Given the description of an element on the screen output the (x, y) to click on. 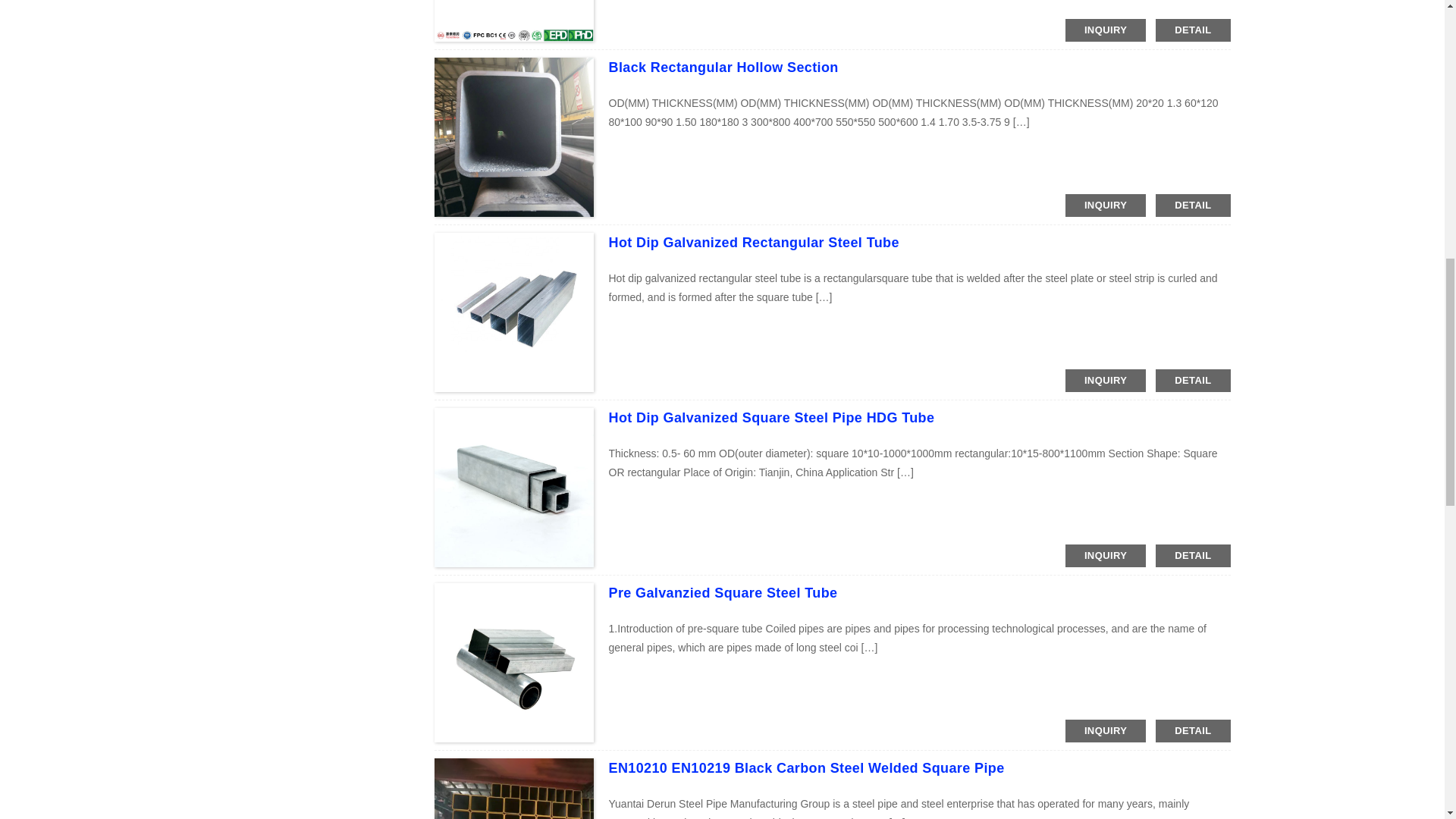
DETAIL (1193, 29)
INQUIRY (1105, 29)
INQUIRY (1105, 205)
Black Rectangular Hollow Section (723, 67)
Hot Dip Galvanized Square Steel Pipe HDG Tube (771, 417)
Black Rectangular Hollow Section (723, 67)
Hot Dip Galvanized Square Steel Pipe HDG Tube (771, 417)
Hot Dip Galvanized Rectangular Steel Tube (753, 242)
DETAIL (1193, 205)
DETAIL (1193, 380)
INQUIRY (1105, 380)
Hot Dip Galvanized Rectangular Steel Tube (753, 242)
